Given the description of an element on the screen output the (x, y) to click on. 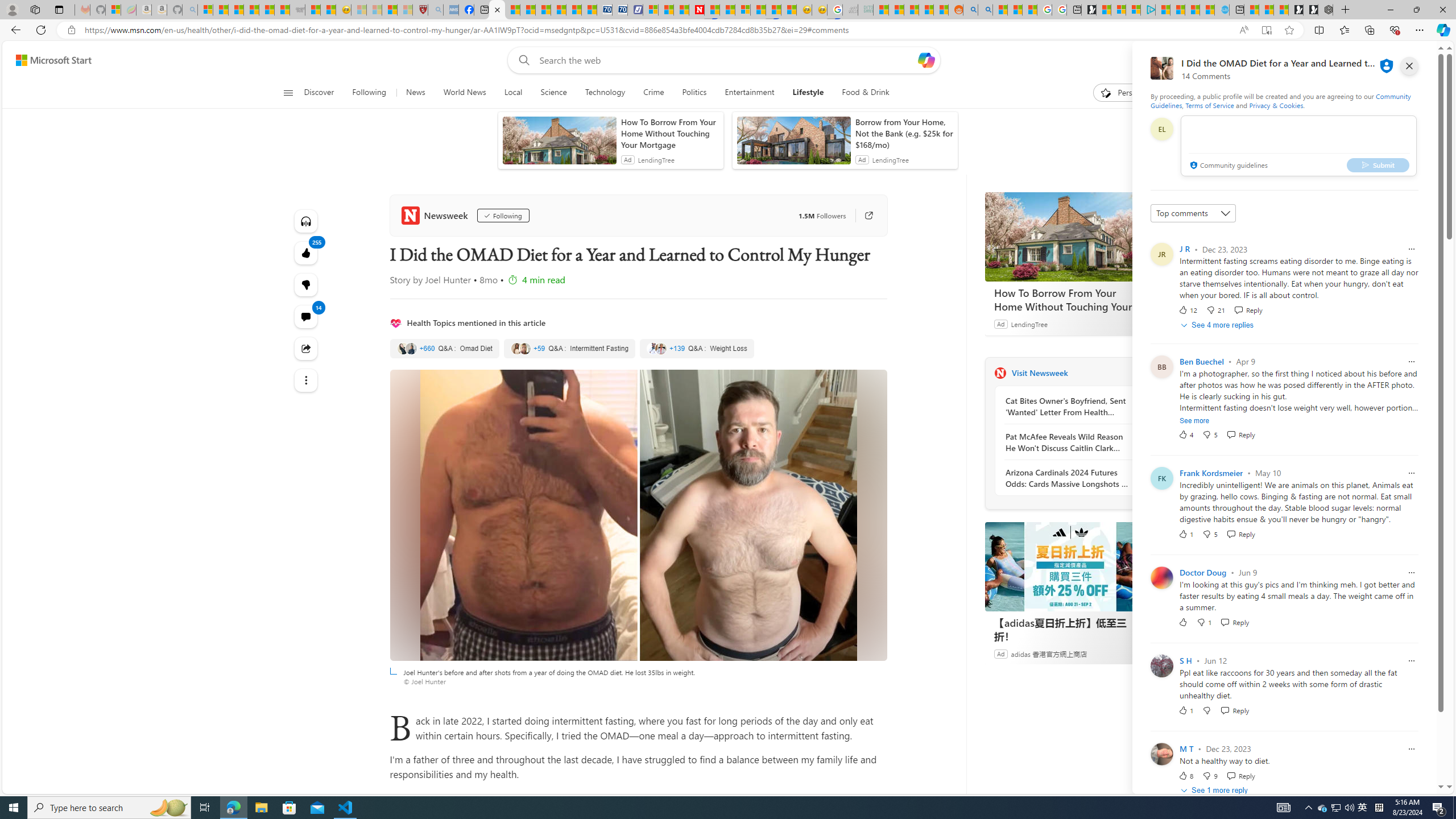
See 1 more reply (1215, 790)
Cheap Hotels - Save70.com (619, 9)
Omad diet (444, 348)
Enter your search term (726, 59)
